Given the description of an element on the screen output the (x, y) to click on. 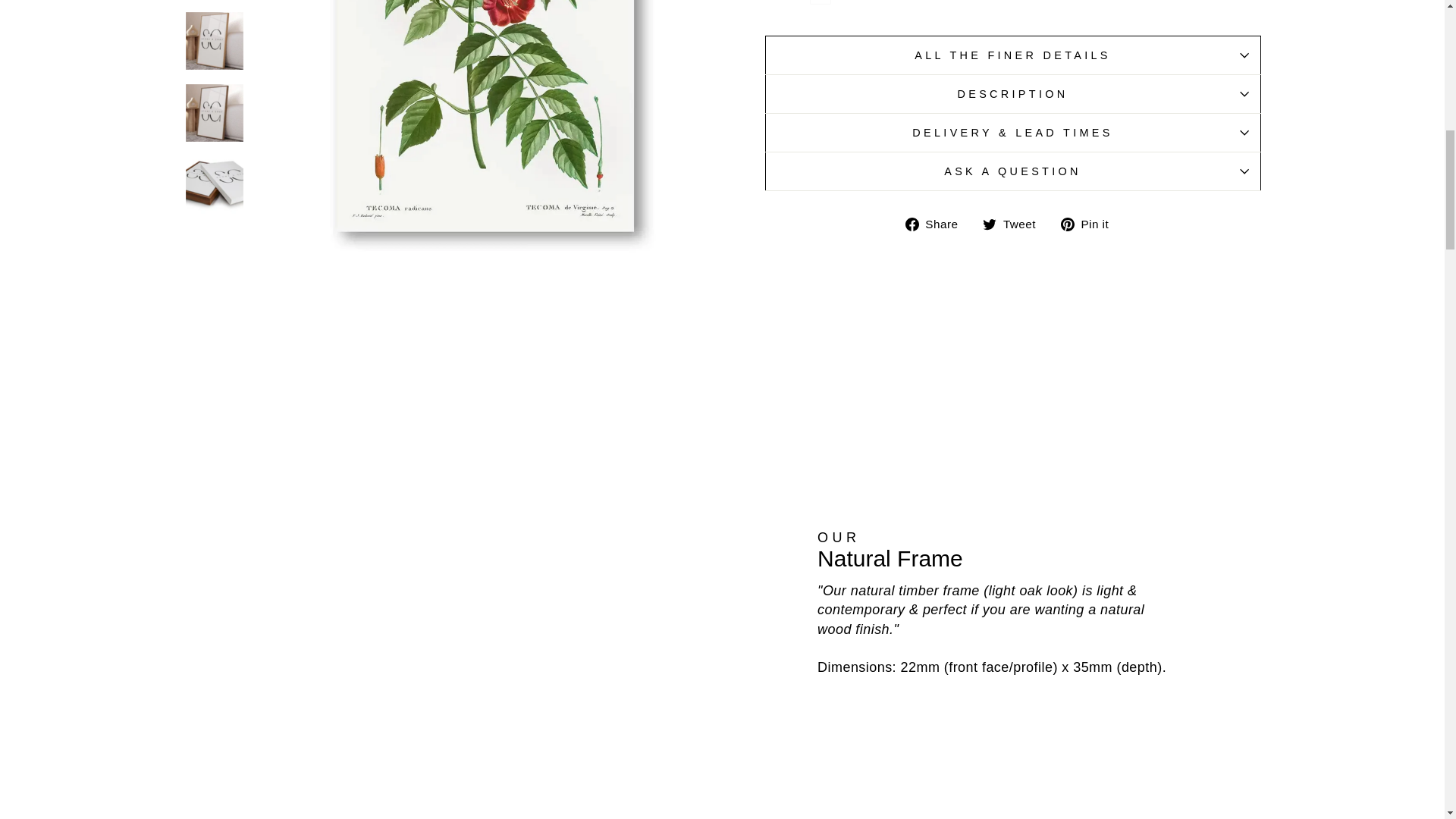
Tweet on Twitter (1014, 222)
Pin on Pinterest (1090, 222)
Share on Facebook (937, 222)
